Given the description of an element on the screen output the (x, y) to click on. 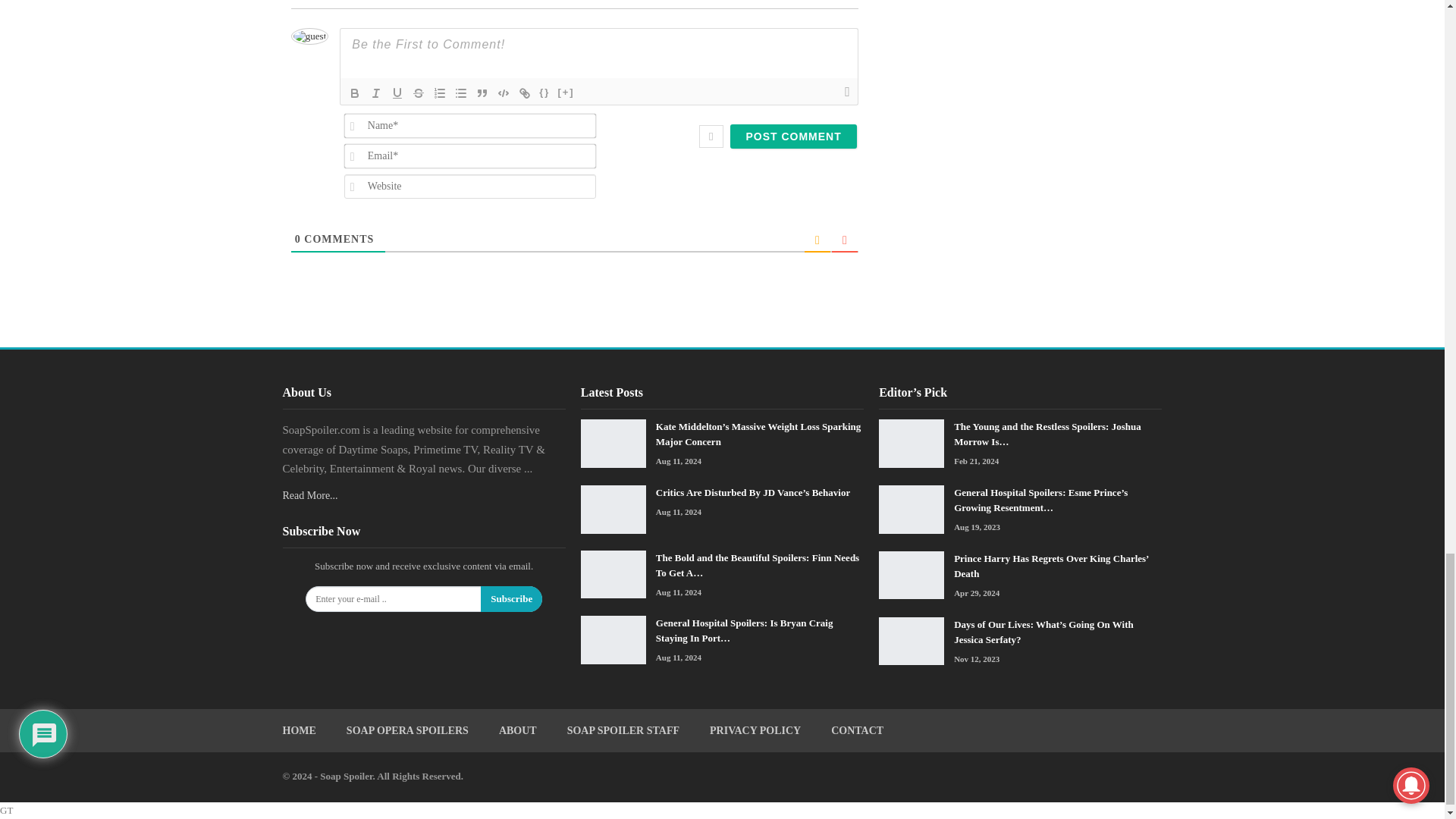
Post Comment (793, 136)
Bold (354, 93)
Unordered List (460, 93)
Underline (397, 93)
Strike (418, 93)
Link (524, 93)
Source Code (544, 93)
Italic (376, 93)
Blockquote (482, 93)
Ordered List (439, 93)
